Given the description of an element on the screen output the (x, y) to click on. 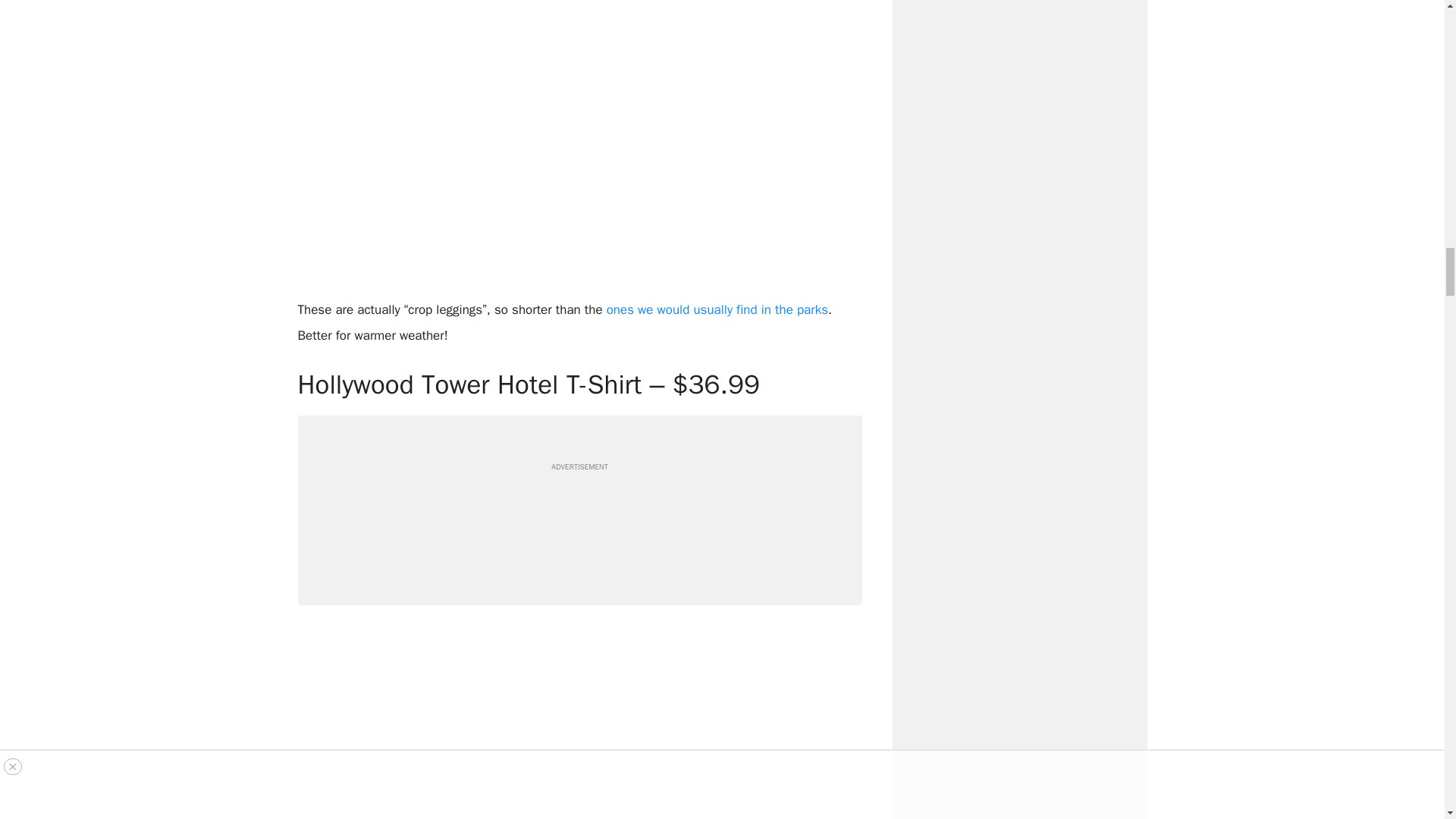
ones we would usually find in the parks (717, 309)
